Given the description of an element on the screen output the (x, y) to click on. 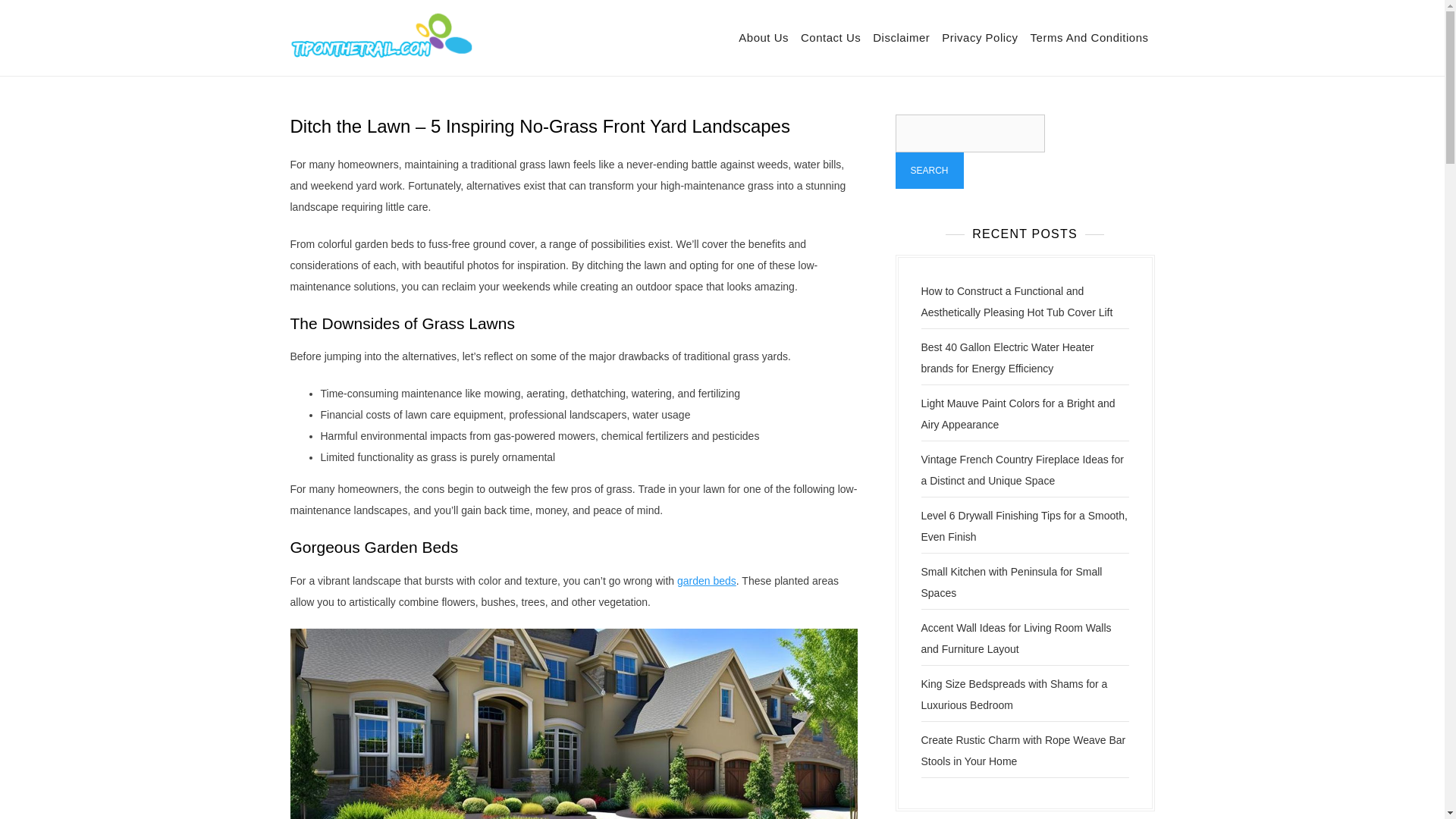
Terms And Conditions (1089, 37)
Disclaimer (901, 37)
Tiponthetrail.com (558, 47)
Small Kitchen with Peninsula for Small Spaces (1011, 581)
Contact Us (830, 37)
Level 6 Drywall Finishing Tips for a Smooth, Even Finish (1023, 525)
garden beds (706, 580)
garden beds (706, 580)
About Us (763, 37)
Light Mauve Paint Colors for a Bright and Airy Appearance (1017, 413)
Privacy Policy (979, 37)
SEARCH (928, 170)
